Given the description of an element on the screen output the (x, y) to click on. 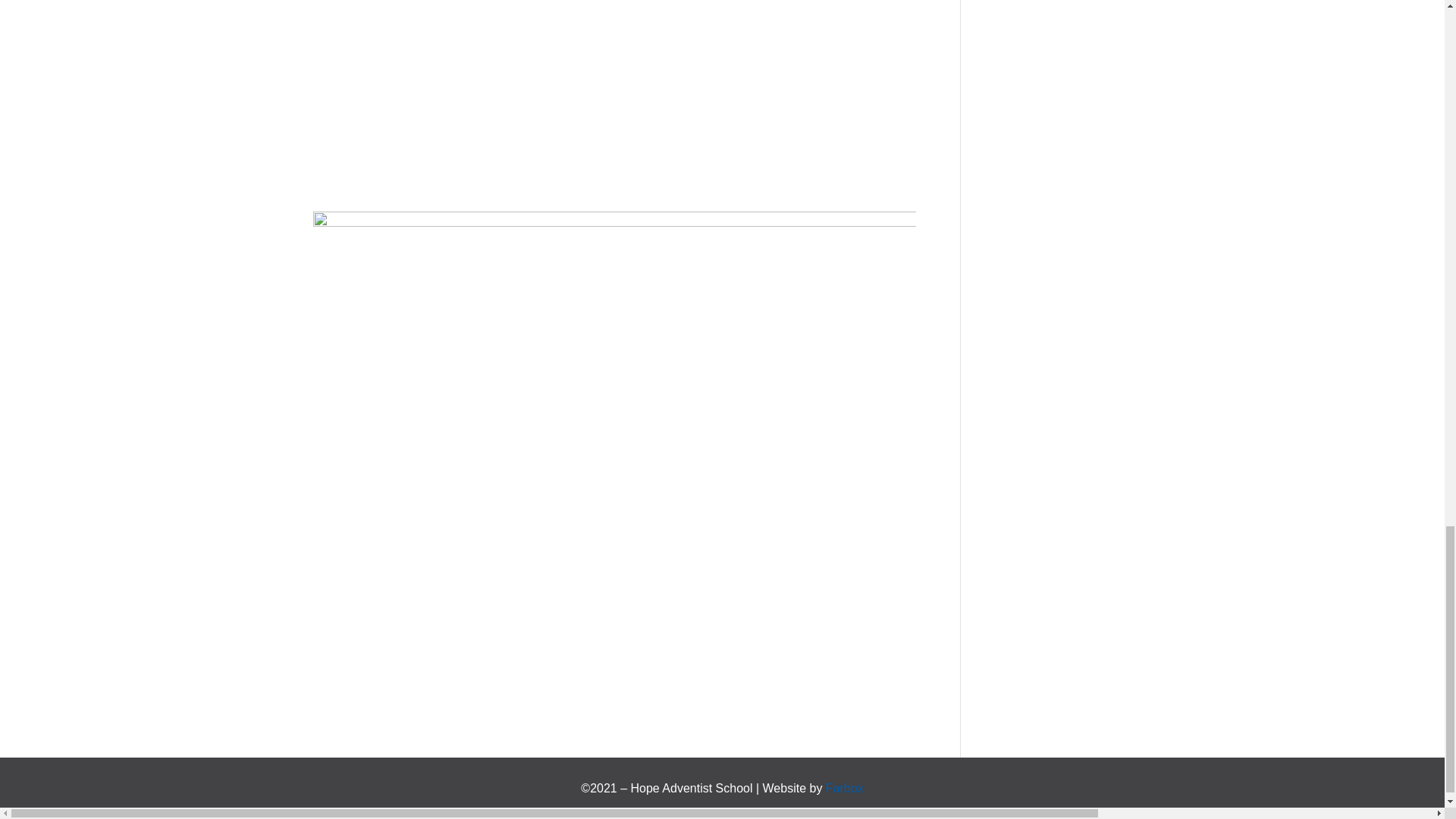
Farbox (844, 788)
